Given the description of an element on the screen output the (x, y) to click on. 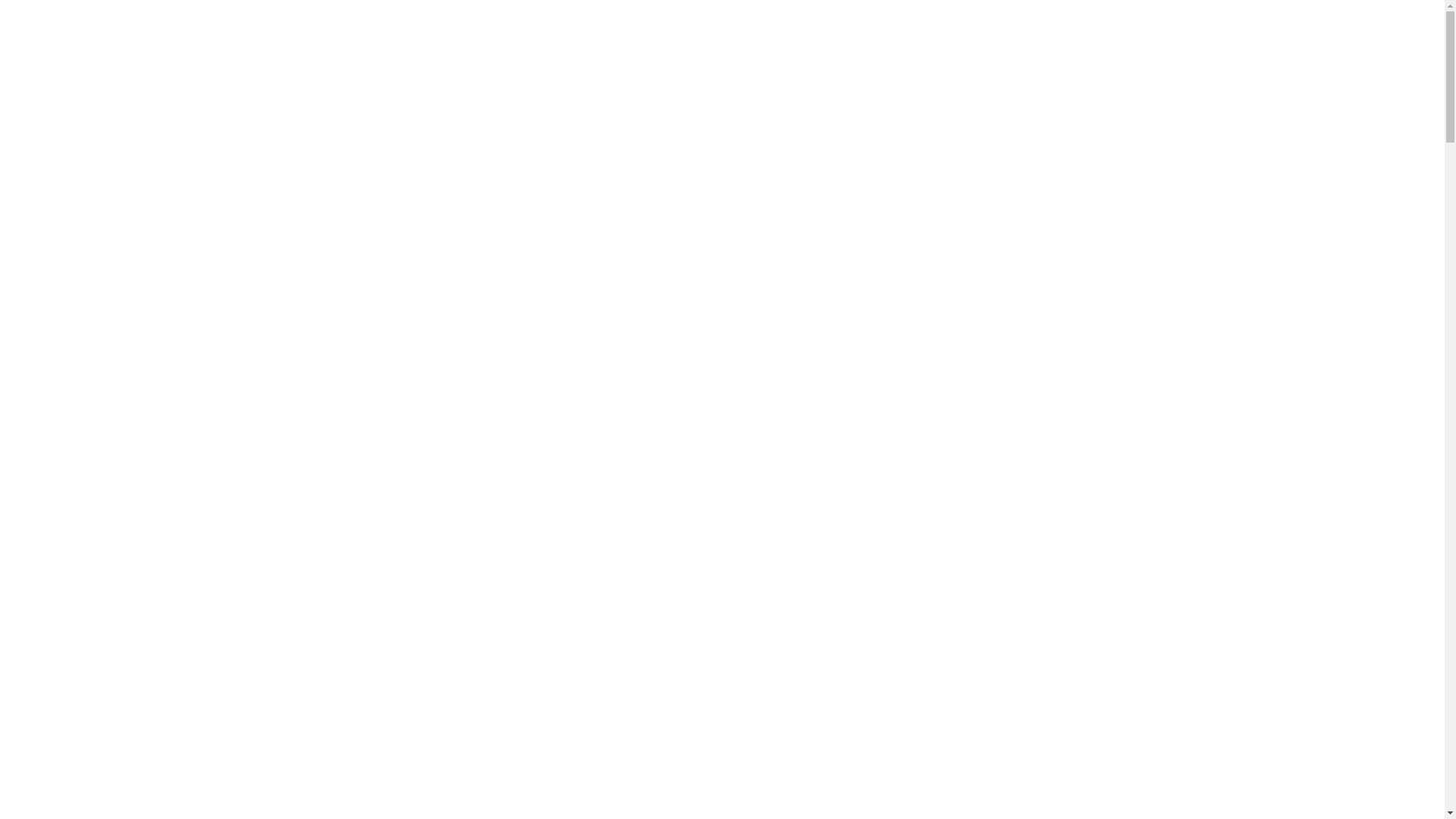
E-MAIL
pub82minsk@gmail.com Element type: text (892, 46)
